Given the description of an element on the screen output the (x, y) to click on. 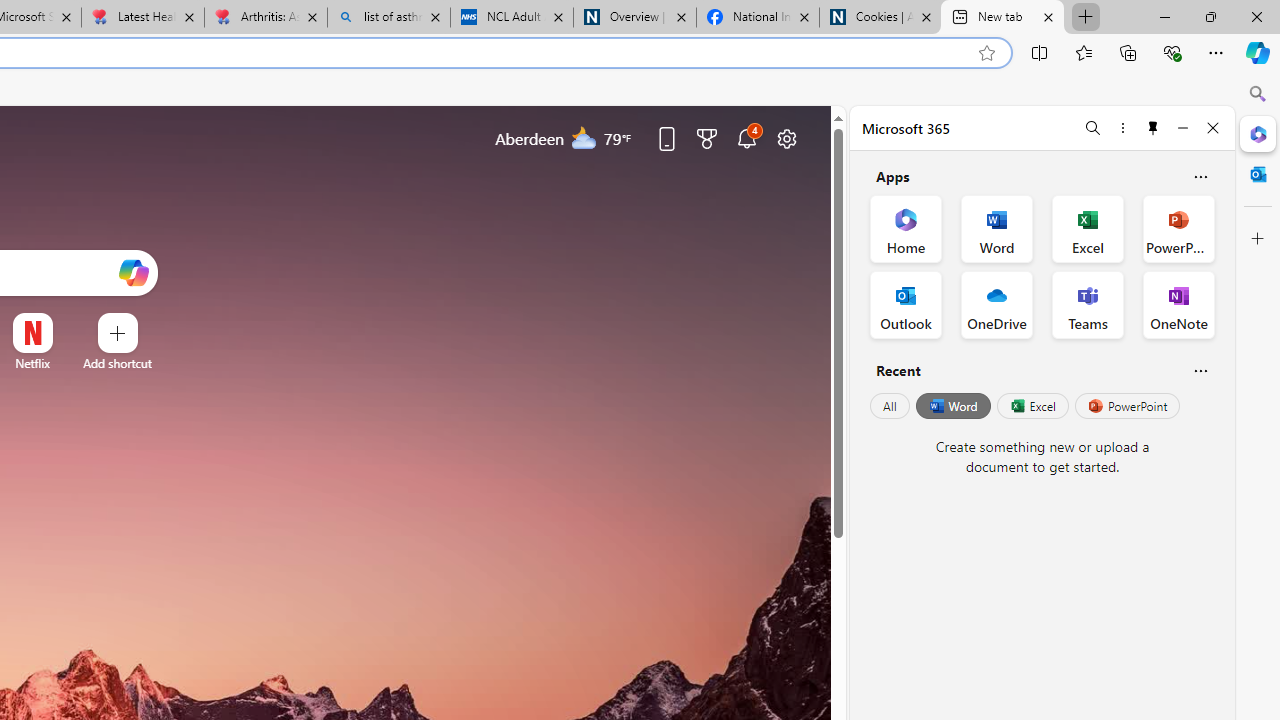
PowerPoint Office App (1178, 228)
Excel (1031, 406)
Mostly cloudy (584, 137)
OneDrive Office App (996, 304)
PowerPoint (1127, 406)
